Given the description of an element on the screen output the (x, y) to click on. 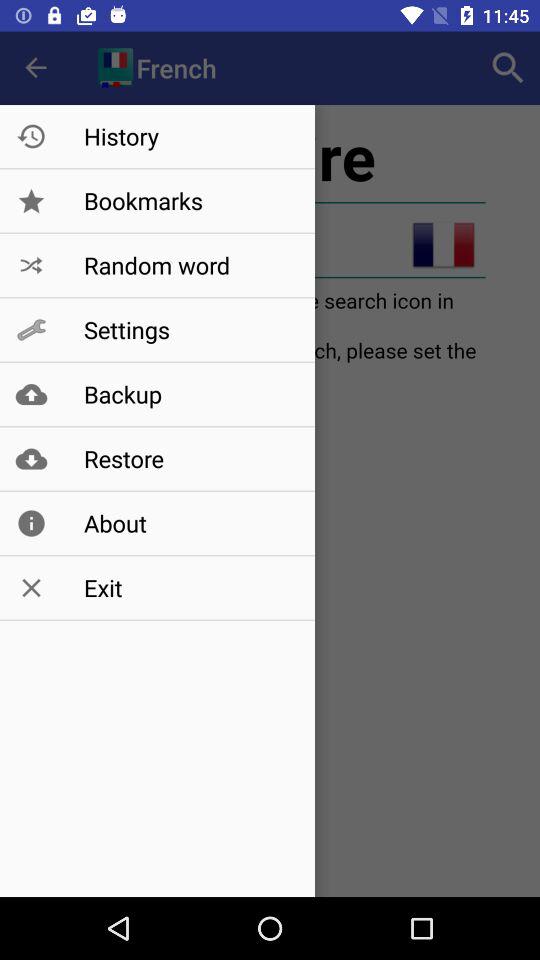
flip to bookmarks icon (188, 200)
